Given the description of an element on the screen output the (x, y) to click on. 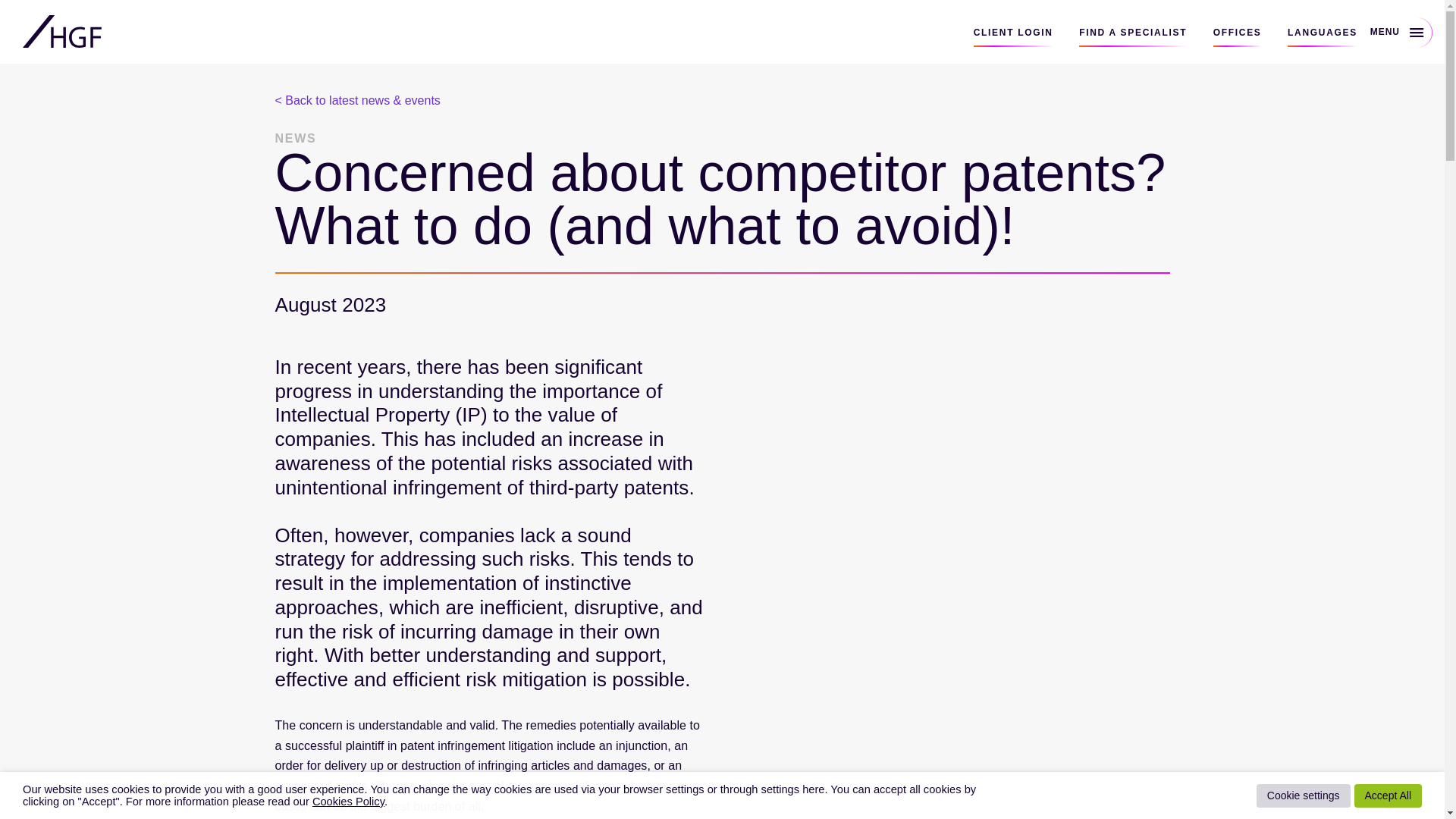
CLIENT LOGIN (1013, 36)
HGF (62, 31)
FIND A SPECIALIST (1132, 36)
MENU (1403, 31)
LANGUAGES (1321, 36)
OFFICES (1237, 36)
